Given the description of an element on the screen output the (x, y) to click on. 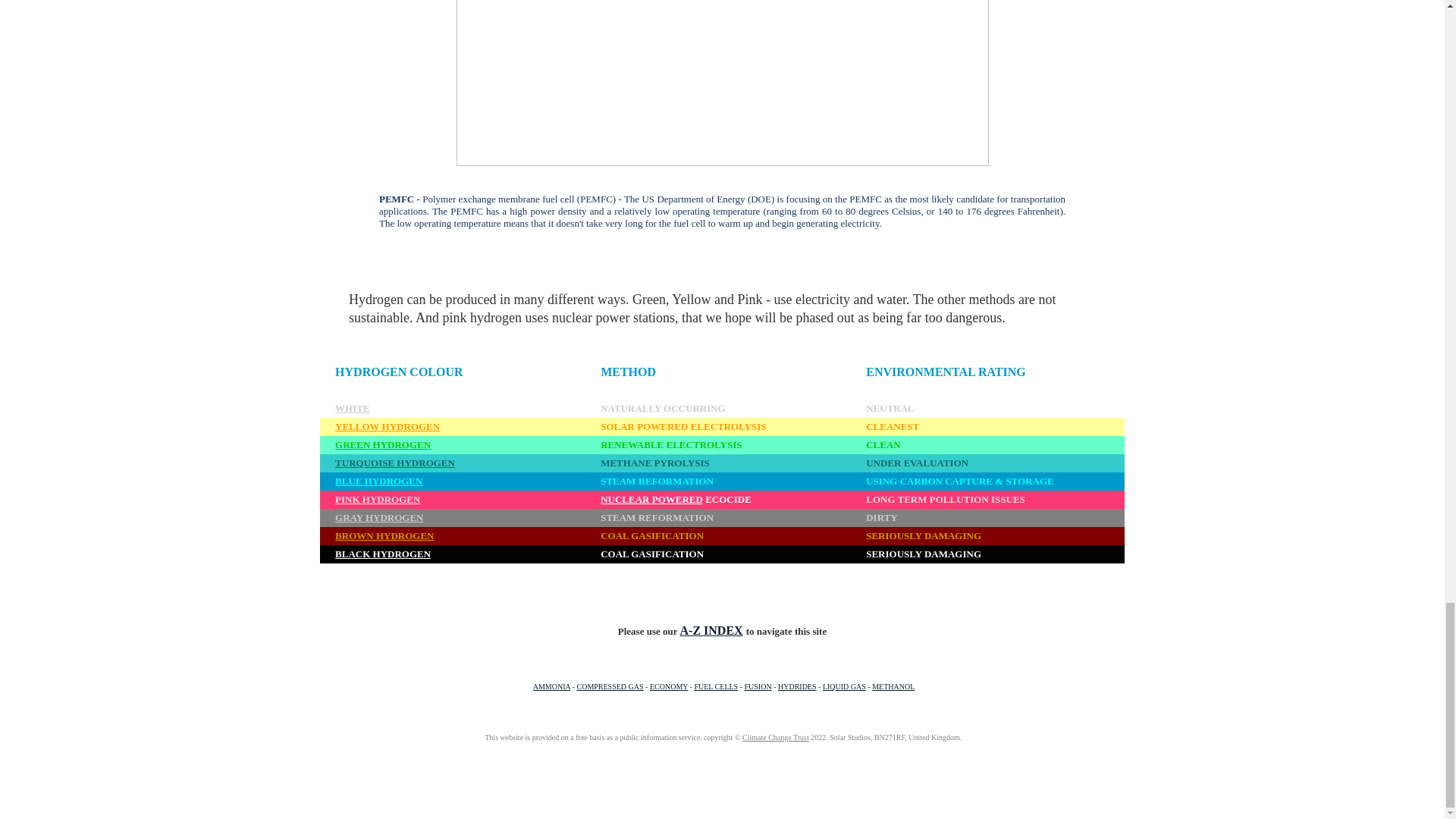
YELLOW HYDROGEN (386, 426)
TURQUOISE HYDROGEN (394, 461)
BLUE HYDROGEN (378, 480)
GREEN HYDROGEN (382, 443)
WHITE (351, 408)
PINK HYDROGEN (377, 499)
